Given the description of an element on the screen output the (x, y) to click on. 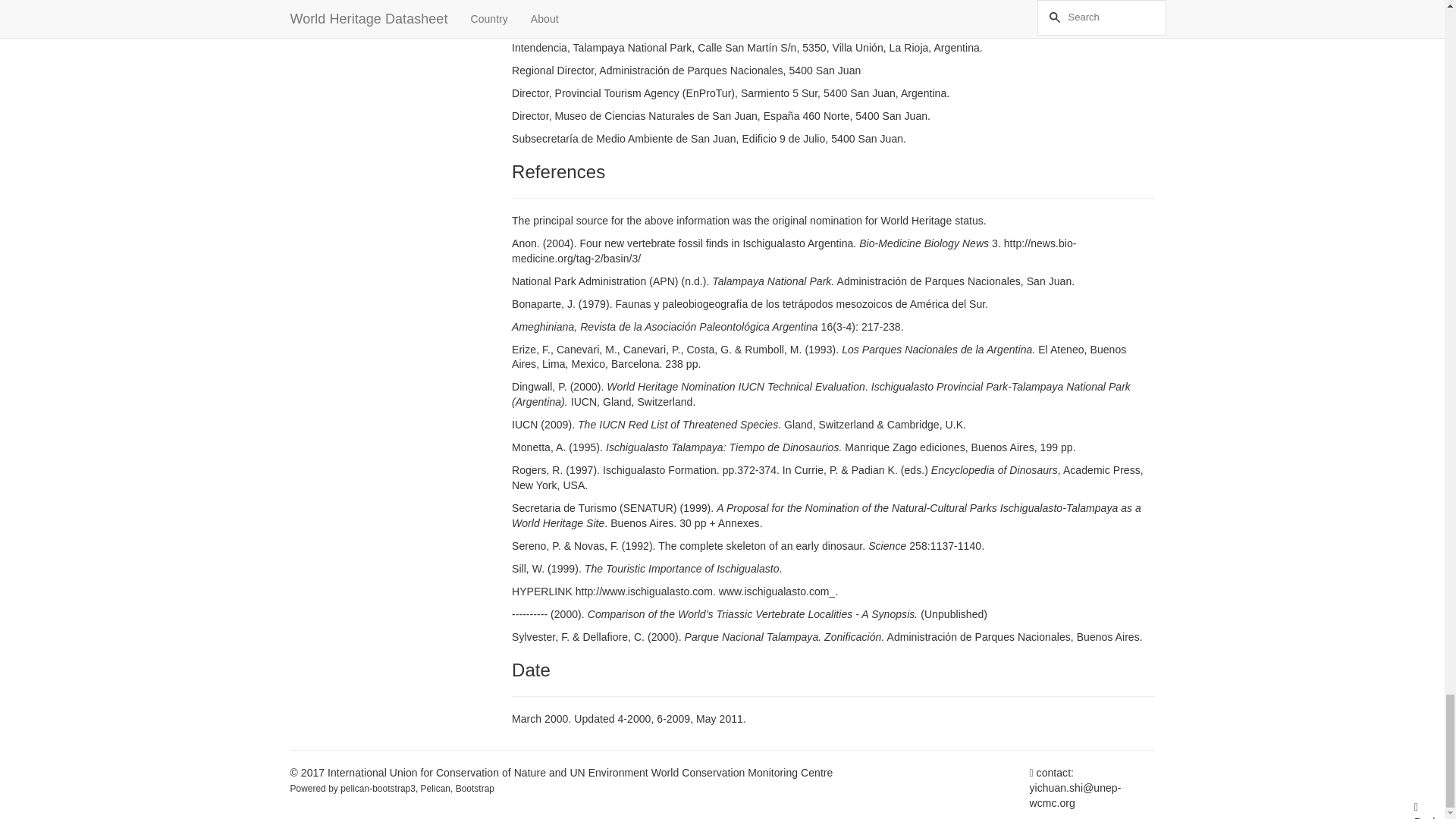
Bootstrap (475, 787)
pelican-bootstrap3 (377, 787)
Pelican (434, 787)
